Given the description of an element on the screen output the (x, y) to click on. 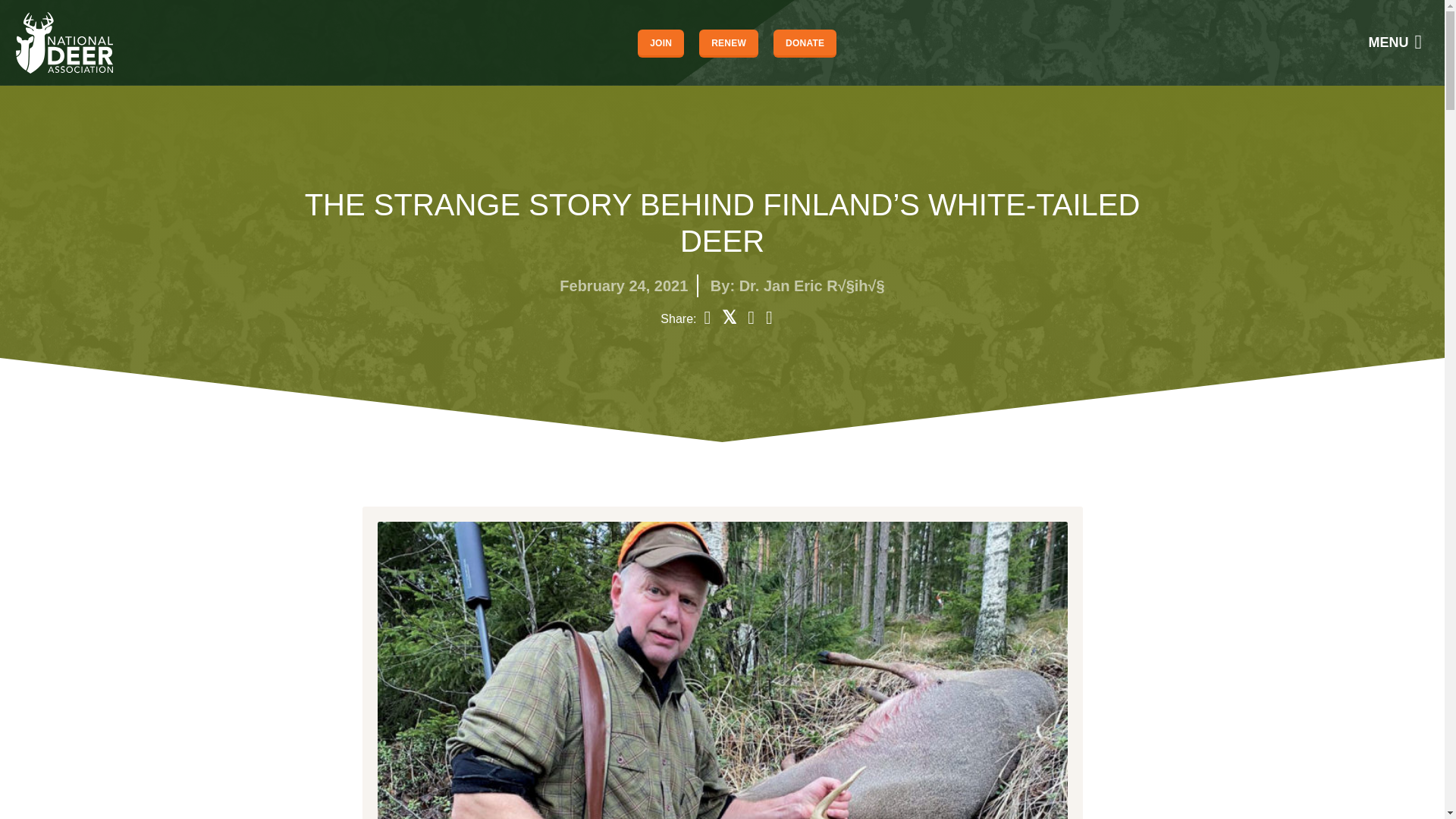
NDA Logo White (63, 42)
